Given the description of an element on the screen output the (x, y) to click on. 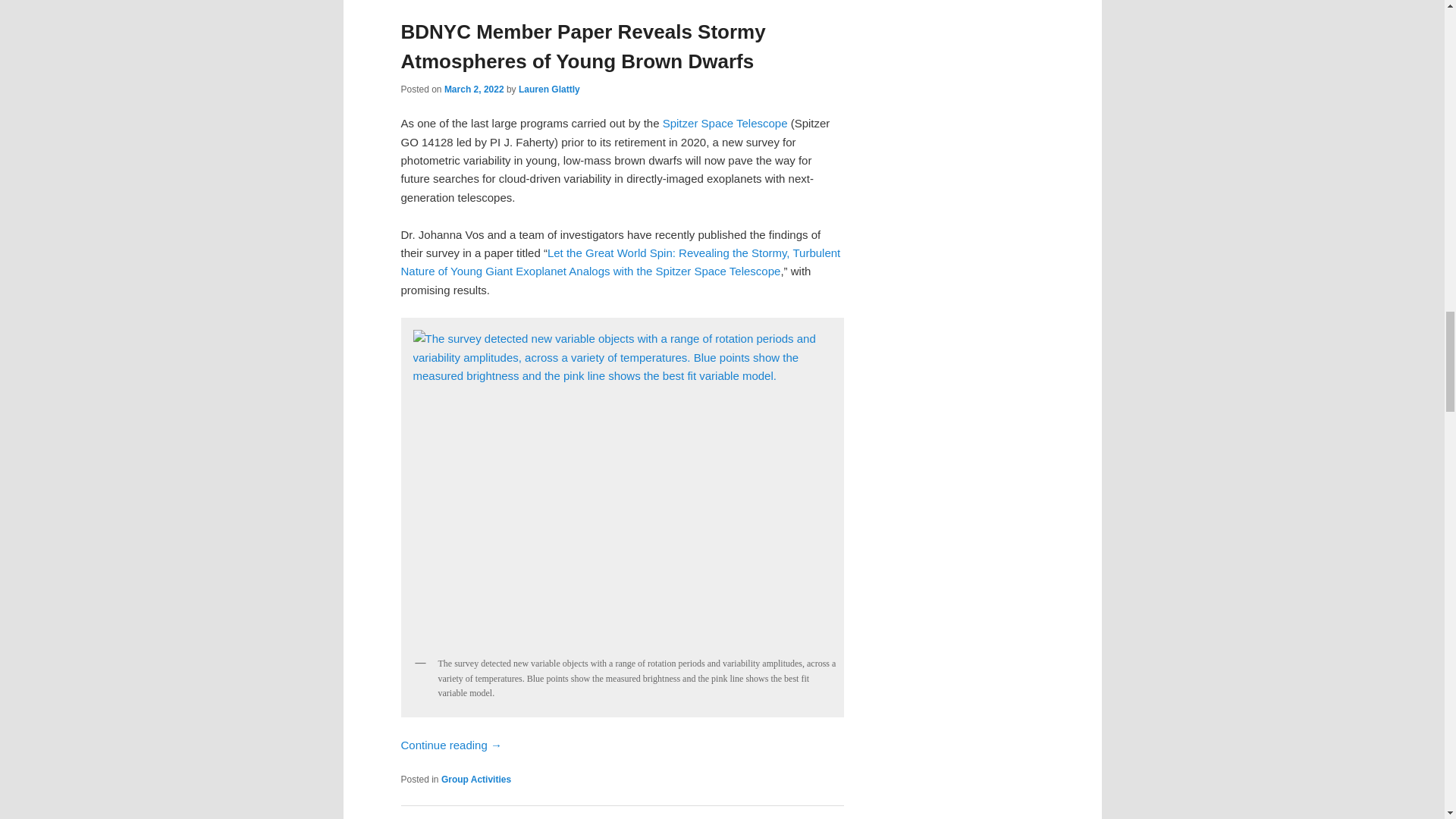
View all posts by Lauren Glattly (548, 89)
5:32 pm (473, 89)
